Given the description of an element on the screen output the (x, y) to click on. 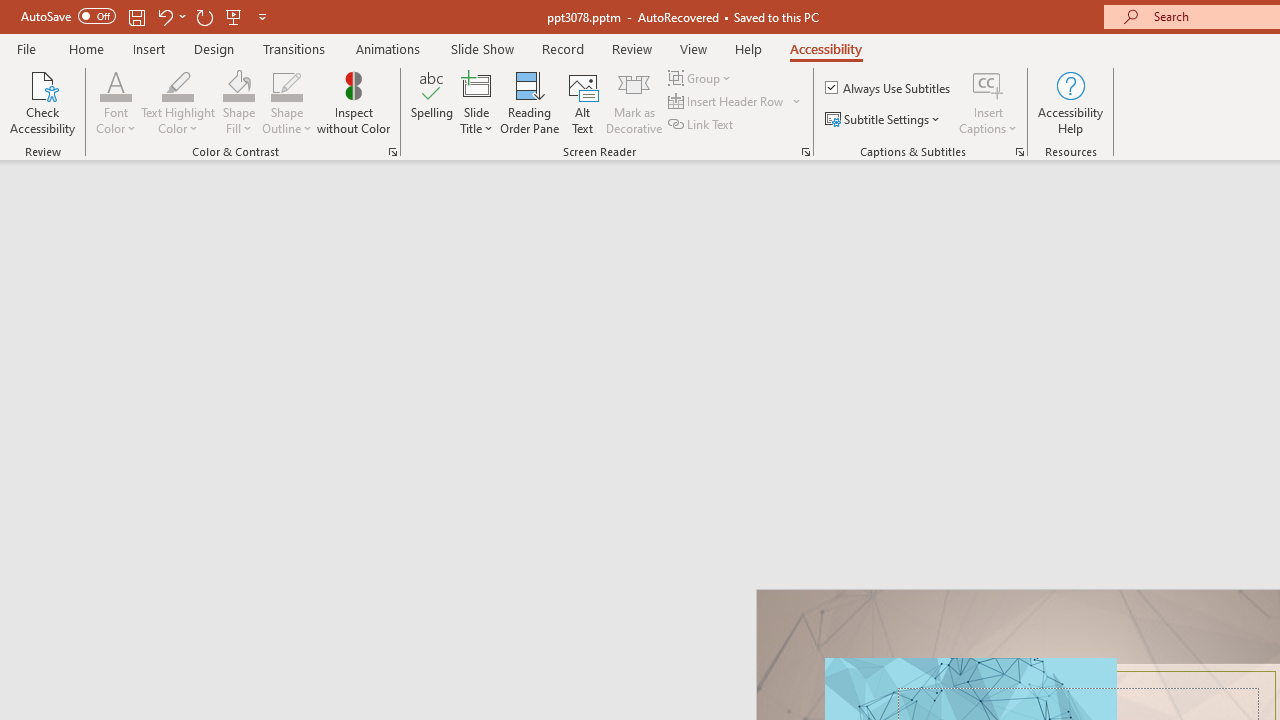
Shape Outline (286, 102)
Reading Order Pane (529, 102)
Shape Outline (286, 84)
Slide Title (476, 102)
Accessibility Help (1070, 102)
Group (701, 78)
Alt Text (582, 102)
Insert Captions (988, 84)
Screen Reader (805, 151)
